Given the description of an element on the screen output the (x, y) to click on. 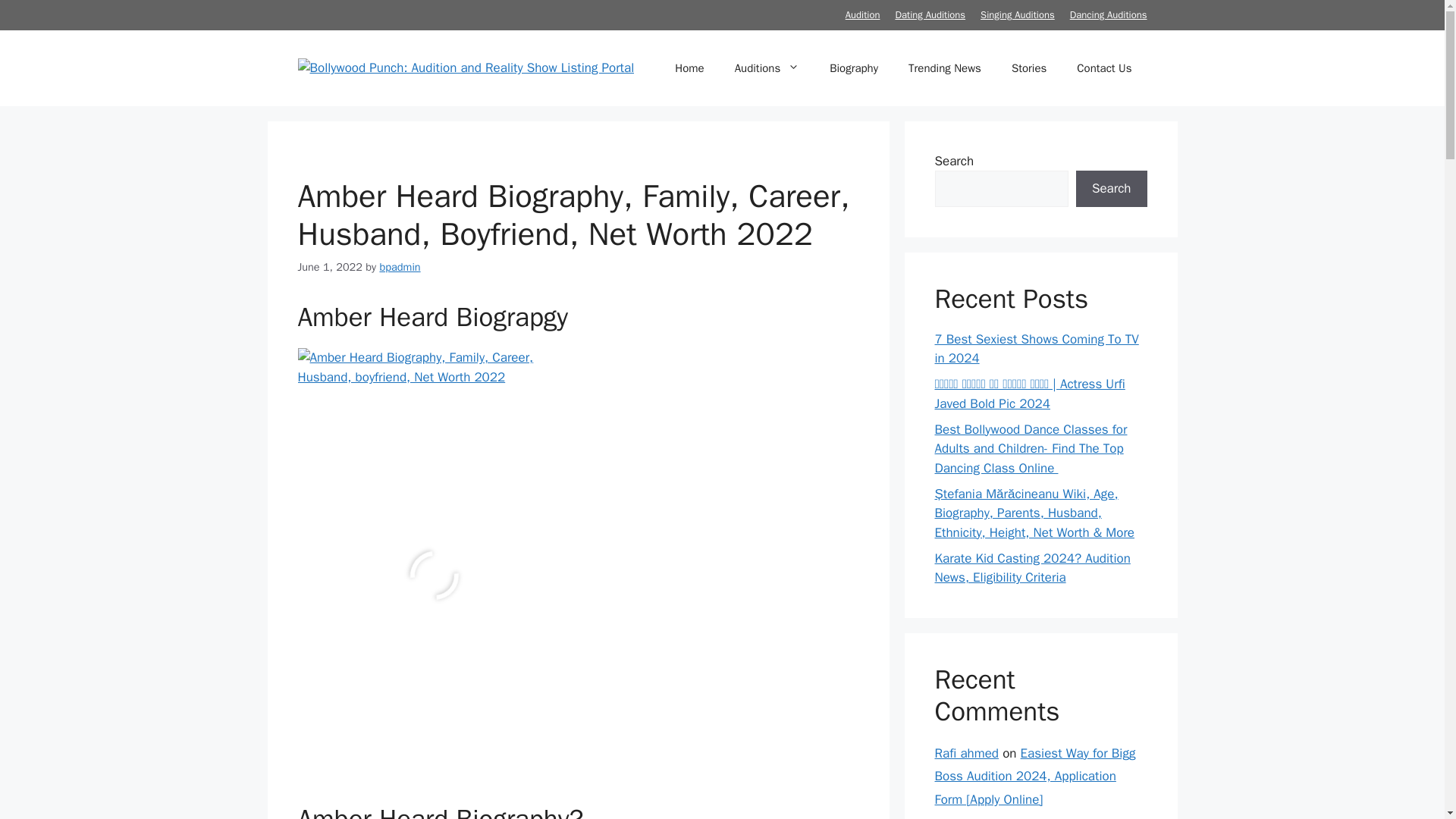
Home (689, 67)
Dating Auditions (930, 14)
Search (1111, 188)
Contact Us (1104, 67)
7 Best Sexiest Shows Coming To TV in 2024 (1036, 348)
Biography (853, 67)
Trending News (944, 67)
Stories (1028, 67)
Auditions (767, 67)
